Given the description of an element on the screen output the (x, y) to click on. 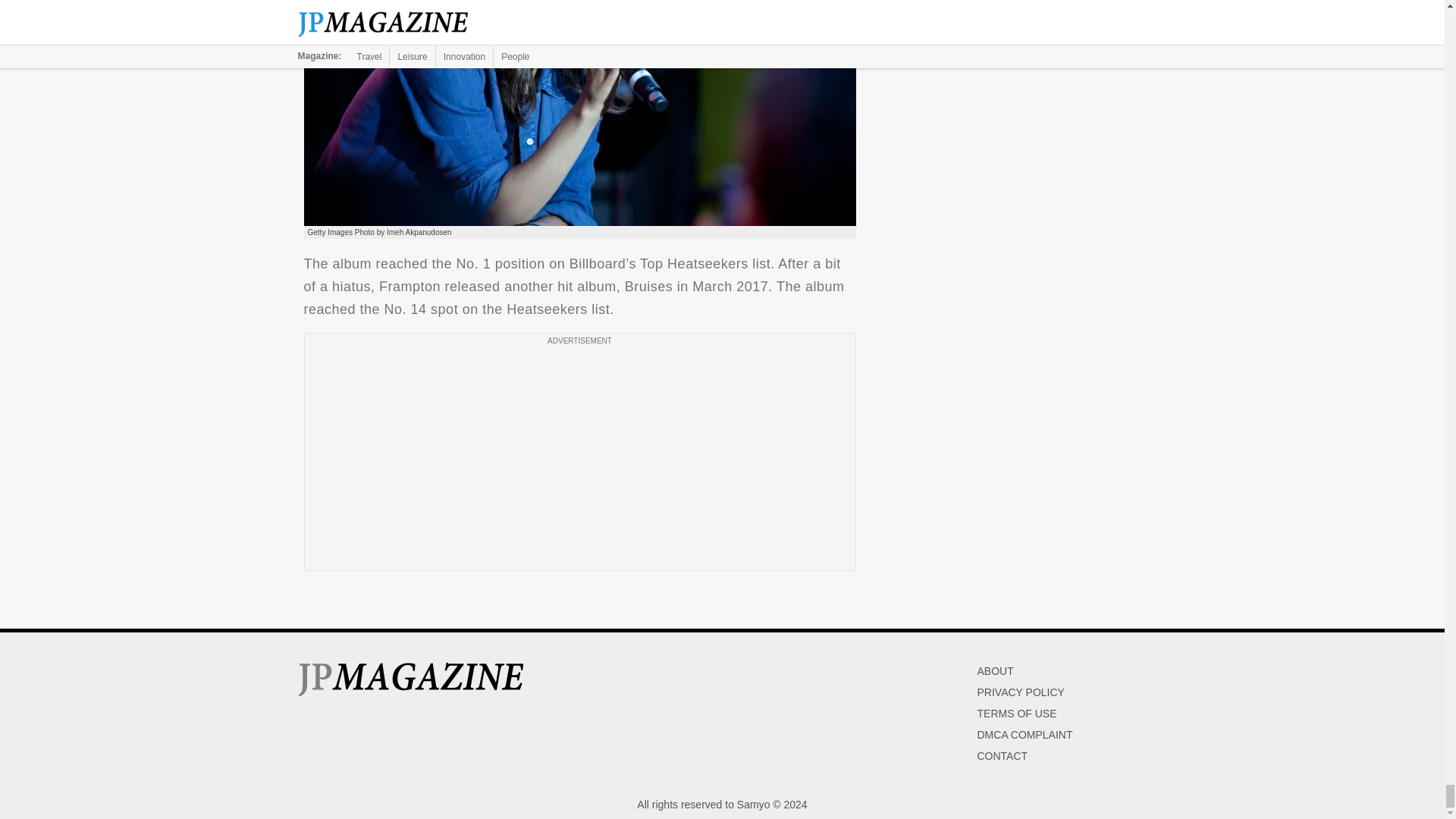
CONTACT (1001, 756)
DMCA COMPLAINT (1023, 734)
PRIVACY POLICY (1020, 692)
ABOUT (994, 671)
TERMS OF USE (1016, 713)
